Given the description of an element on the screen output the (x, y) to click on. 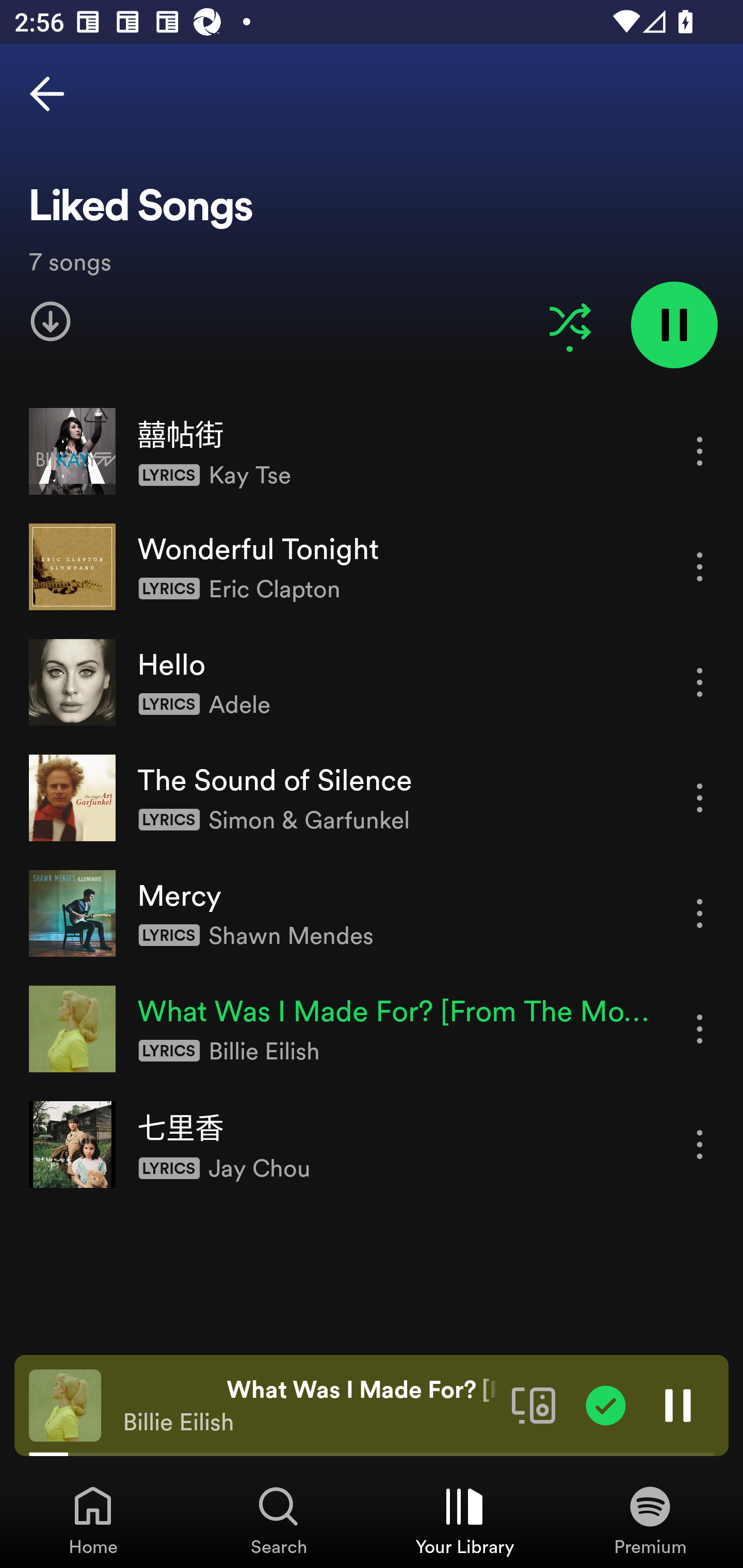
Back (46, 93)
Download (50, 321)
Disable shuffle for this liked songs (569, 321)
Pause liked songs (674, 324)
囍帖街 More options for song 囍帖街 Lyrics Kay Tse (371, 451)
More options for song 囍帖街 (699, 450)
More options for song Wonderful Tonight (699, 566)
Hello More options for song Hello Lyrics Adele (371, 682)
More options for song Hello (699, 682)
More options for song The Sound of Silence (699, 798)
More options for song Mercy (699, 913)
七里香 More options for song 七里香 Lyrics Jay Chou (371, 1144)
More options for song 七里香 (699, 1144)
